Given the description of an element on the screen output the (x, y) to click on. 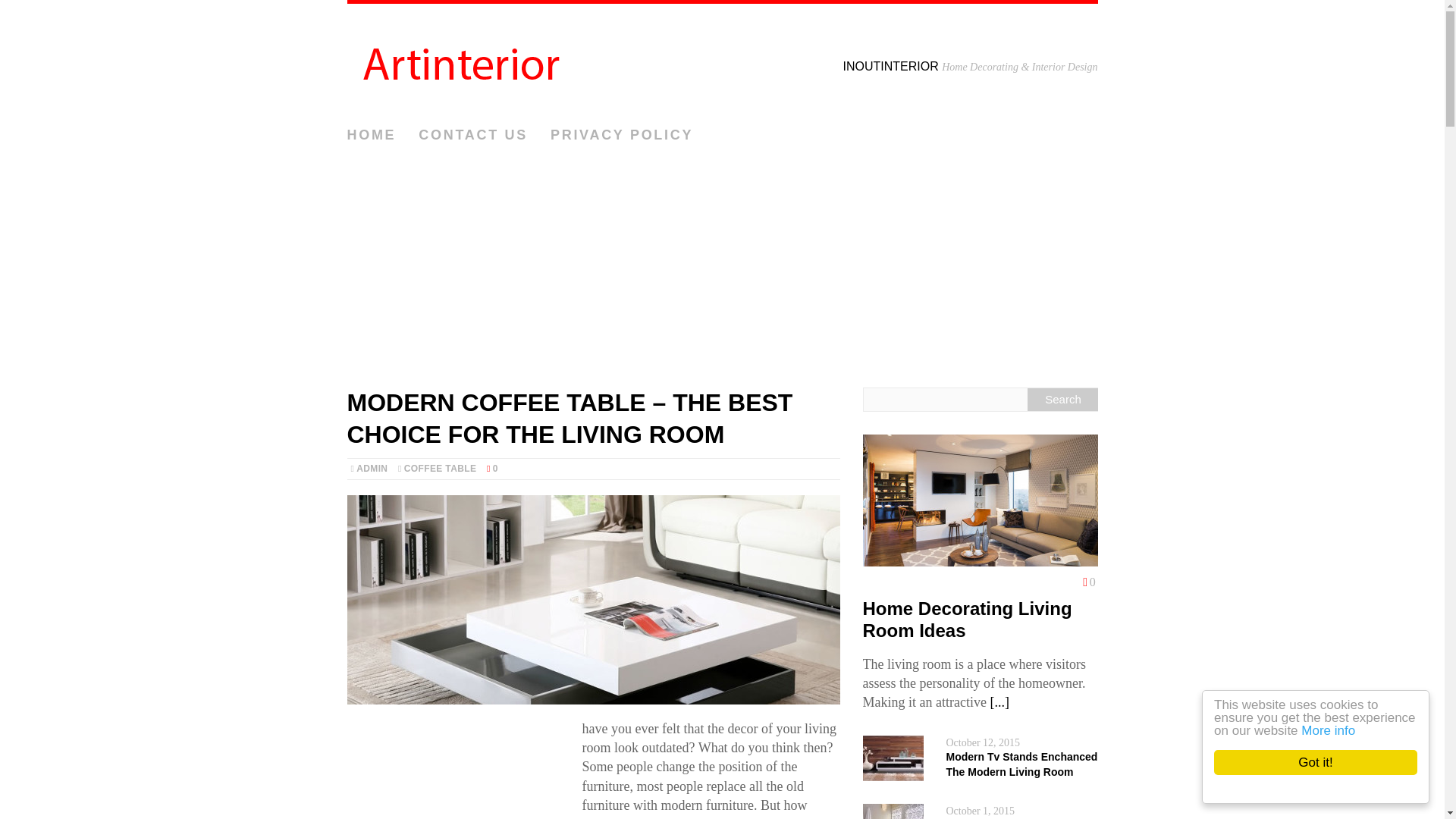
Posts by admin (371, 468)
Search (1062, 399)
InOutInterior (722, 61)
CONTACT US (473, 135)
Search (1062, 399)
Home Decorating Living Room Ideas (999, 702)
Modern Coffee Table With Storage (593, 599)
Cookie Consent plugin for the EU cookie law (1329, 788)
Home Decorating Living Room Ideas (980, 556)
Home Decorating Living Room Ideas (967, 619)
More info (1343, 730)
COFFEE TABLE (440, 468)
ADMIN (371, 468)
Home Decorating Living Room Ideas (967, 619)
HOME (371, 135)
